Given the description of an element on the screen output the (x, y) to click on. 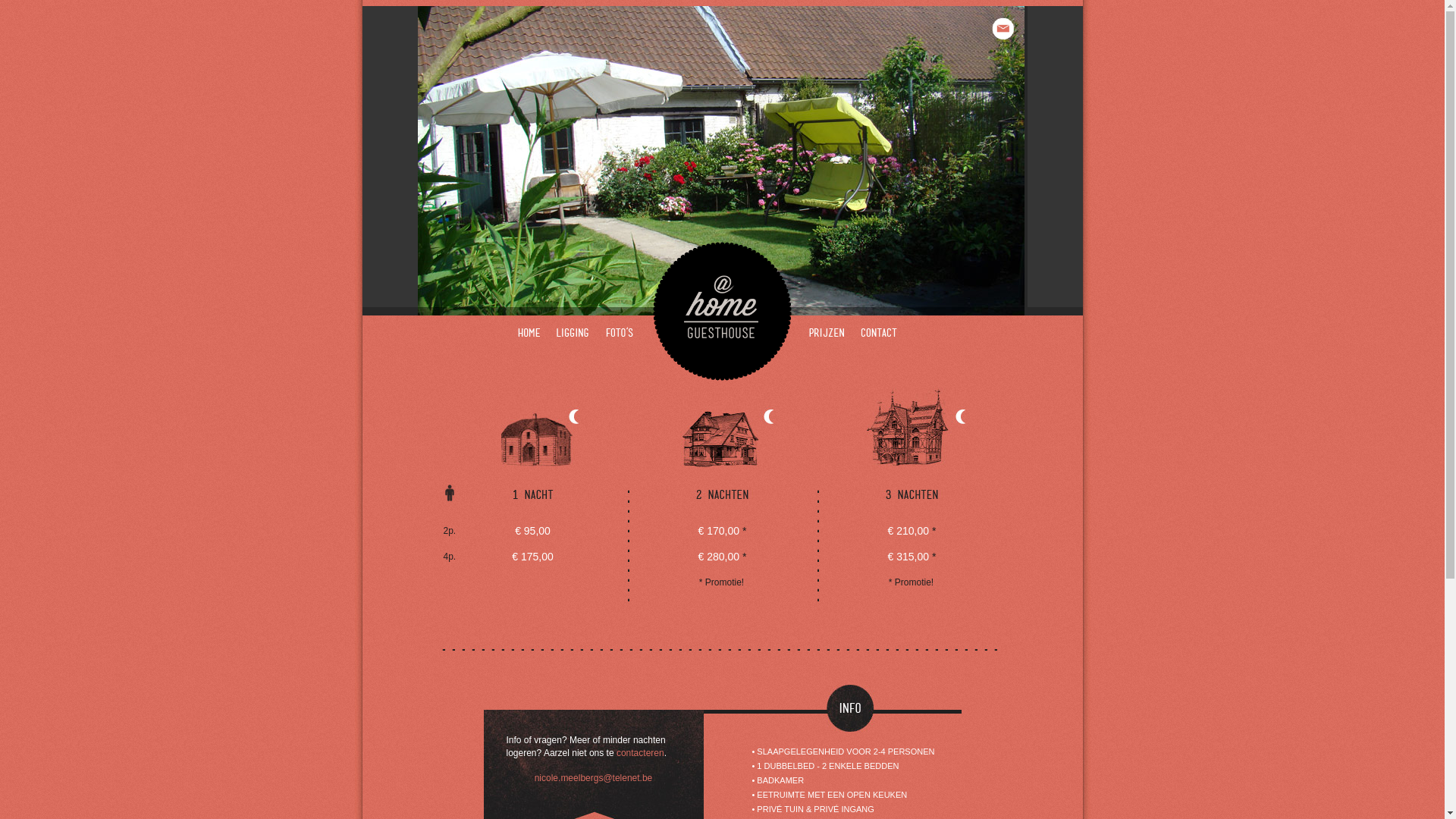
Contacteer ons Element type: hover (1002, 28)
contacteren Element type: text (640, 752)
nicole.meelbergs@telenet.be Element type: text (593, 777)
